Given the description of an element on the screen output the (x, y) to click on. 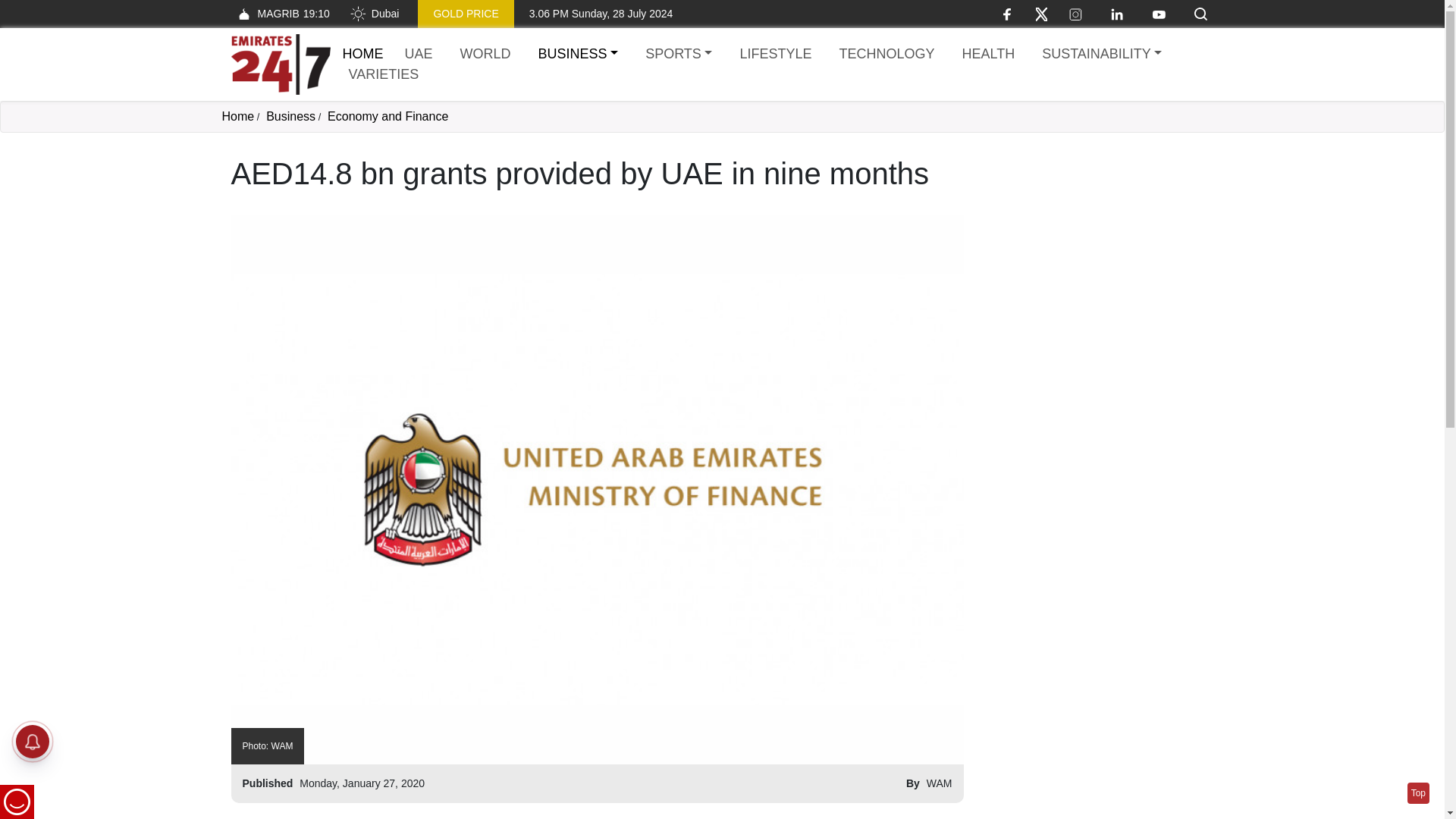
GOLD PRICE (465, 13)
HOME (363, 53)
SPORTS (678, 54)
VARIETIES (383, 74)
Home (279, 13)
HEALTH (280, 64)
Business (987, 54)
Home (290, 115)
LIFESTYLE (237, 115)
Home (774, 54)
WORLD (363, 53)
Dubai (485, 54)
BUSINESS (374, 13)
Economy and Finance (578, 54)
